Given the description of an element on the screen output the (x, y) to click on. 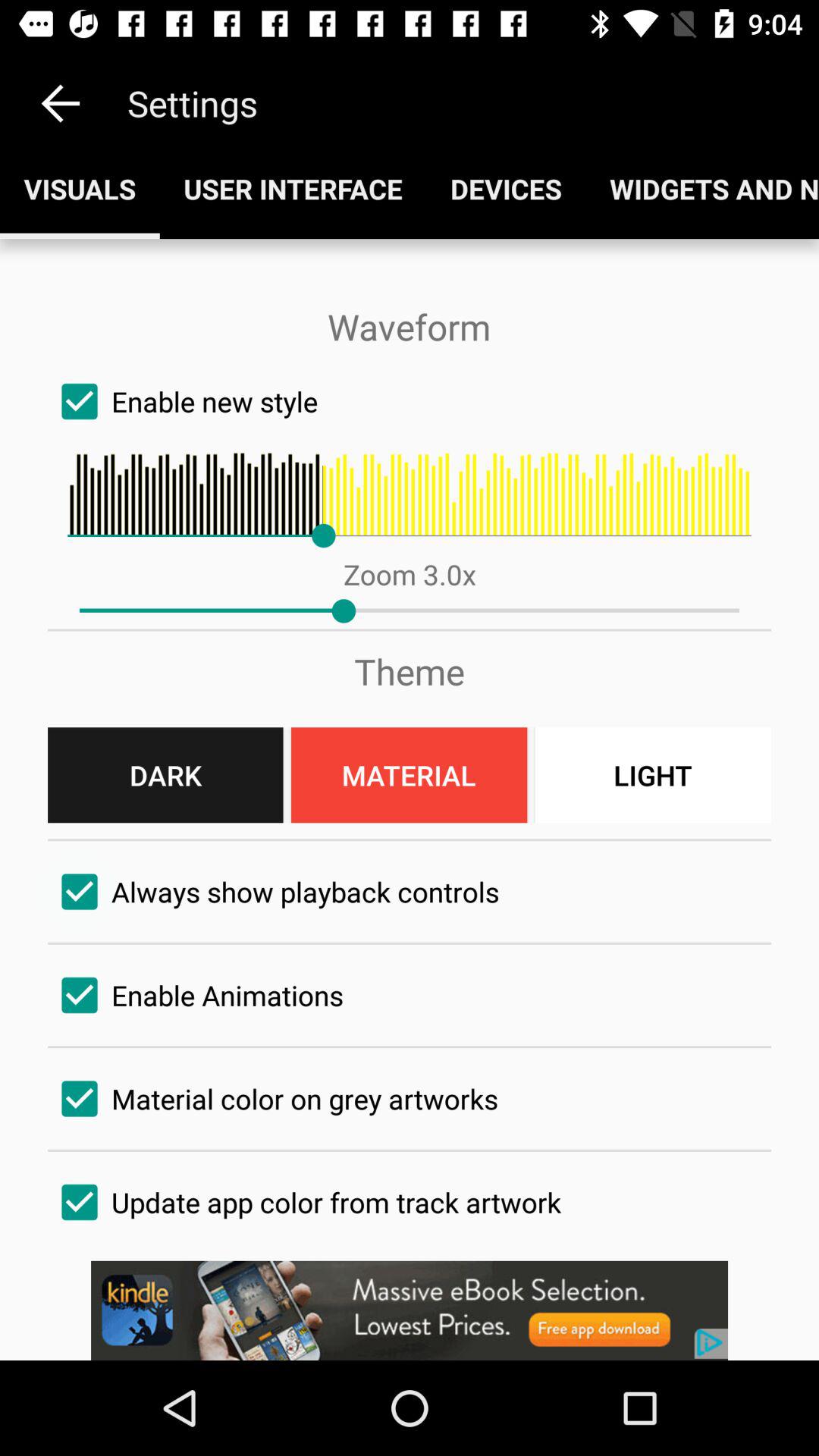
click on the red color button (409, 774)
click on the button next to visuals (292, 188)
click on the button left of material (165, 774)
click on the fourth check box (409, 1099)
